Given the description of an element on the screen output the (x, y) to click on. 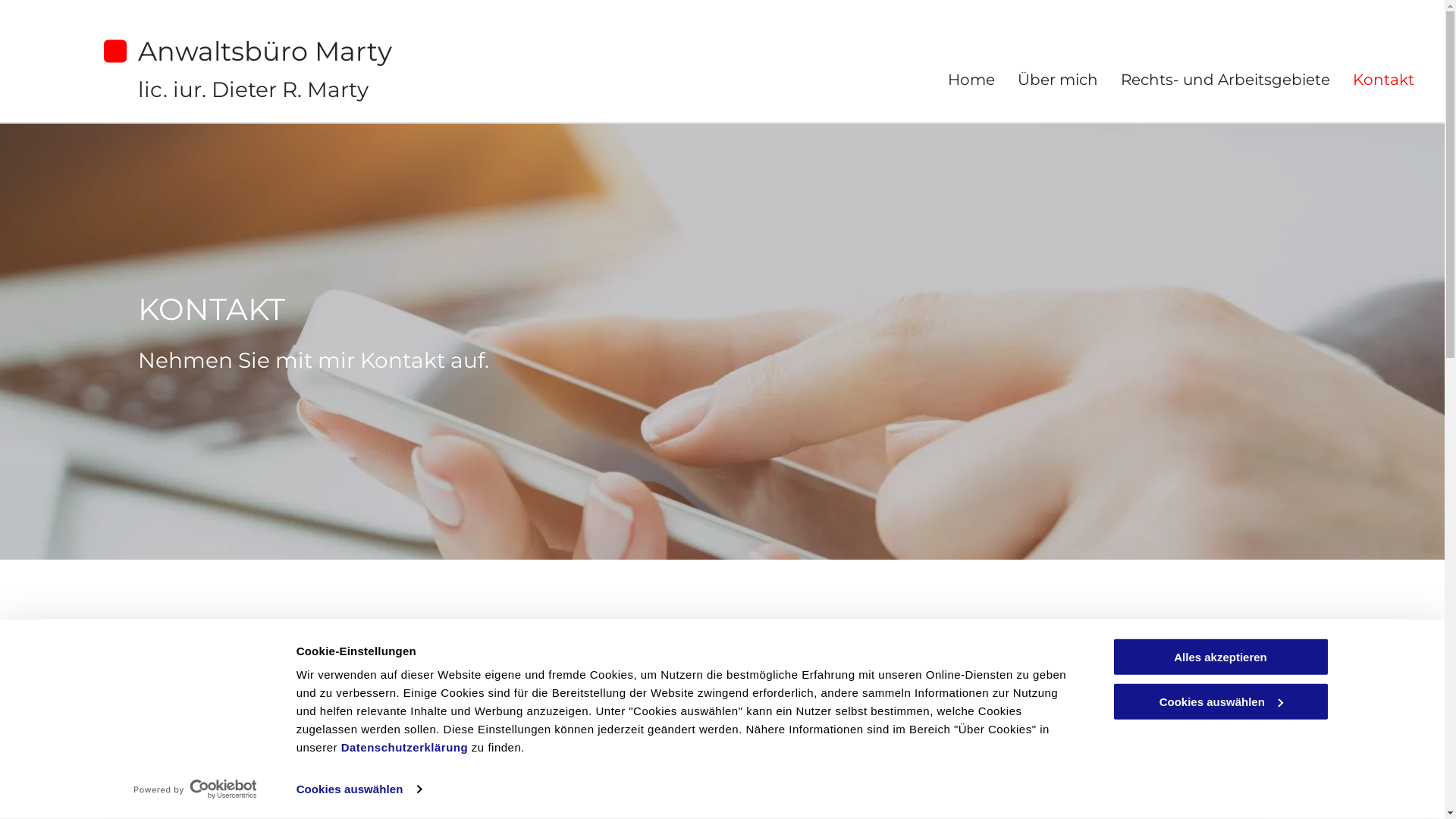
081 258 48 88 Element type: text (393, 771)
Home Element type: text (971, 79)
lic. iur. Dieter R. Marty Element type: text (253, 89)
Alles akzeptieren Element type: text (1219, 656)
Rechts- und Arbeitsgebiete Element type: text (1225, 79)
Kontakt Element type: text (1383, 79)
079 792 33 85 Element type: text (393, 801)
